Given the description of an element on the screen output the (x, y) to click on. 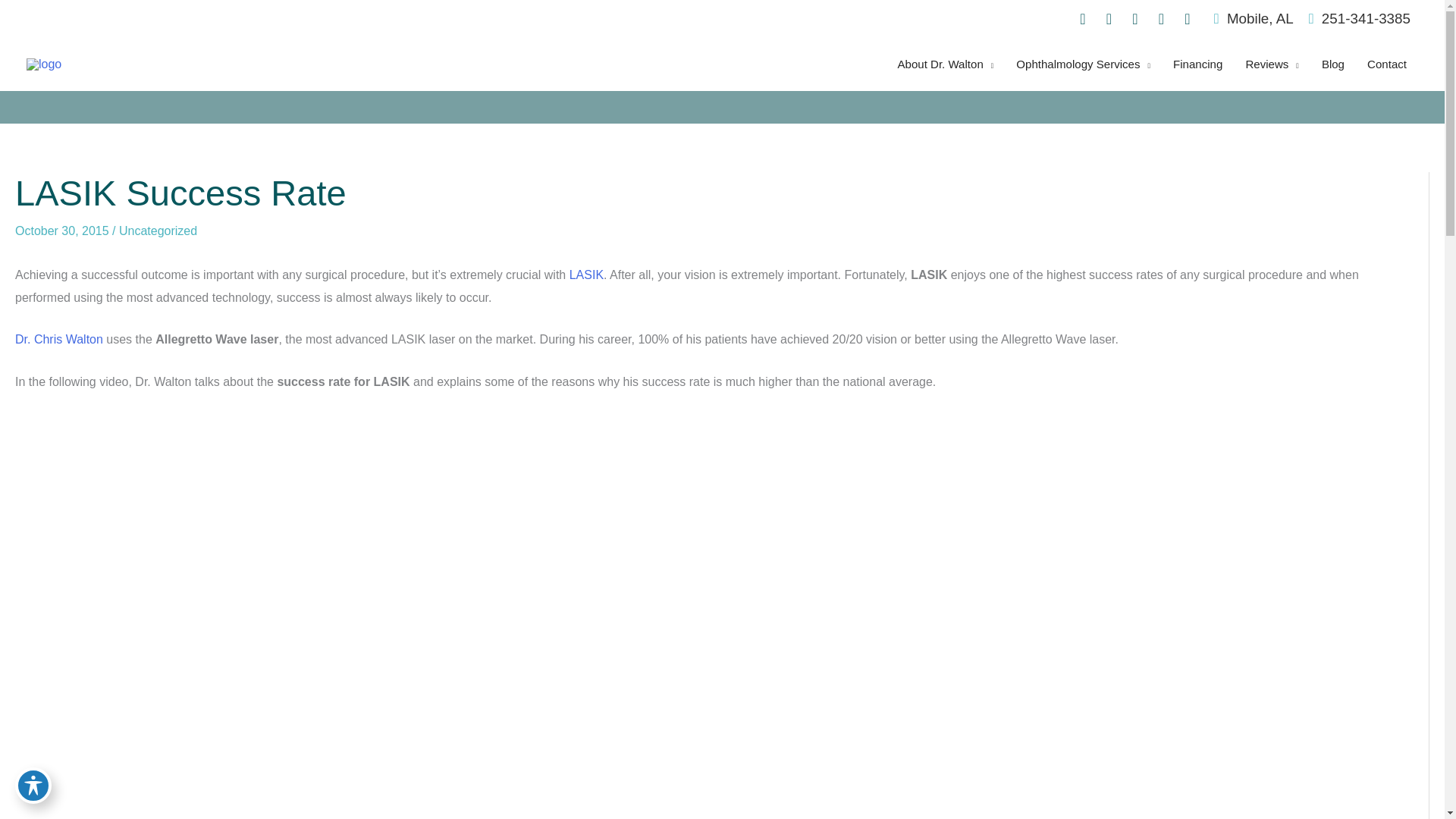
Contact (1386, 63)
Reviews (1270, 63)
251-341-3385 (1359, 18)
About Dr. Walton (946, 63)
Financing (1197, 63)
Mobile, AL (1254, 18)
Ophthalmology Services (1082, 63)
